Given the description of an element on the screen output the (x, y) to click on. 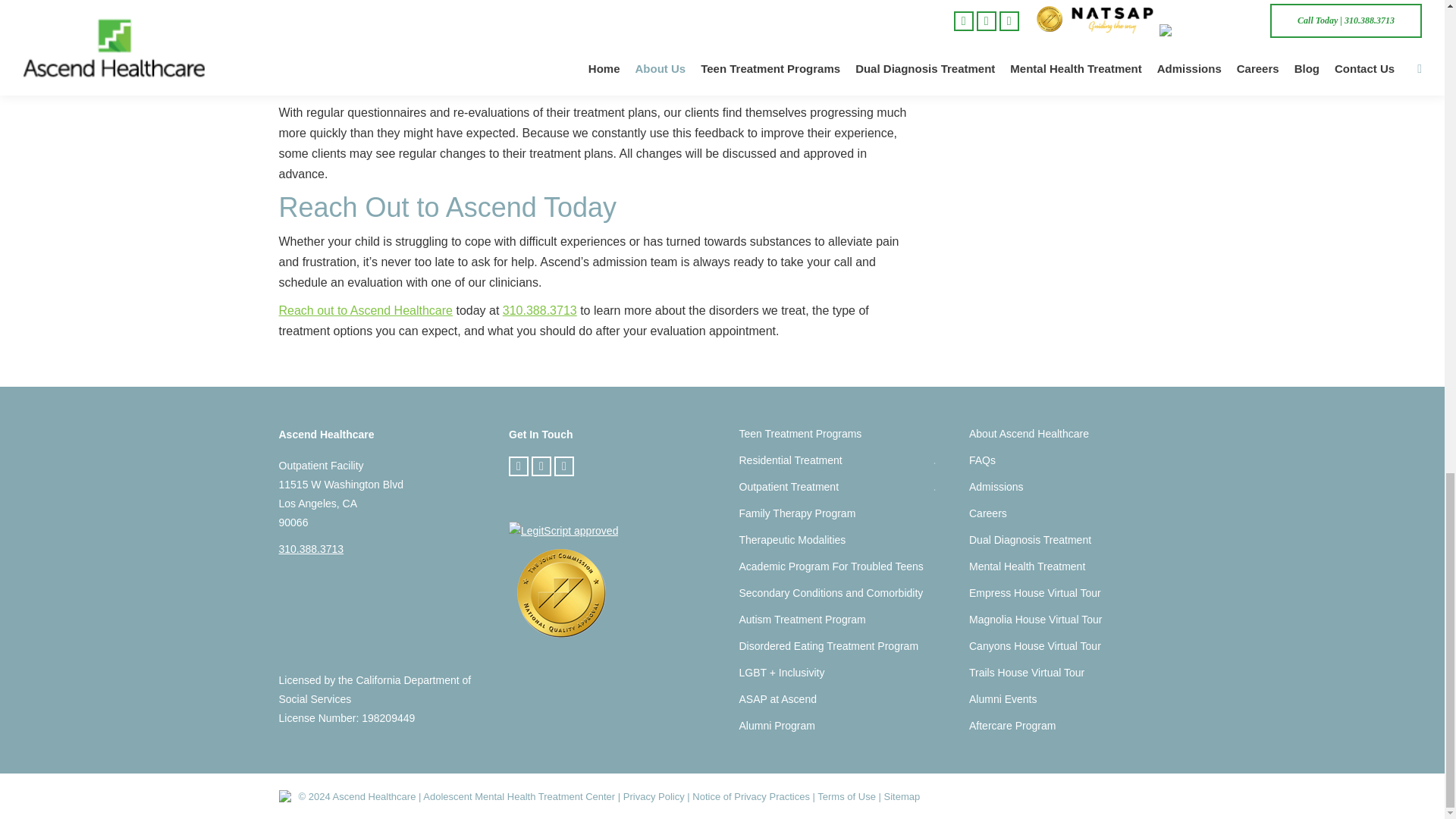
Facebook (518, 465)
Instagram (563, 465)
Twitter (541, 465)
Verify LegitScript Approval (562, 530)
